Given the description of an element on the screen output the (x, y) to click on. 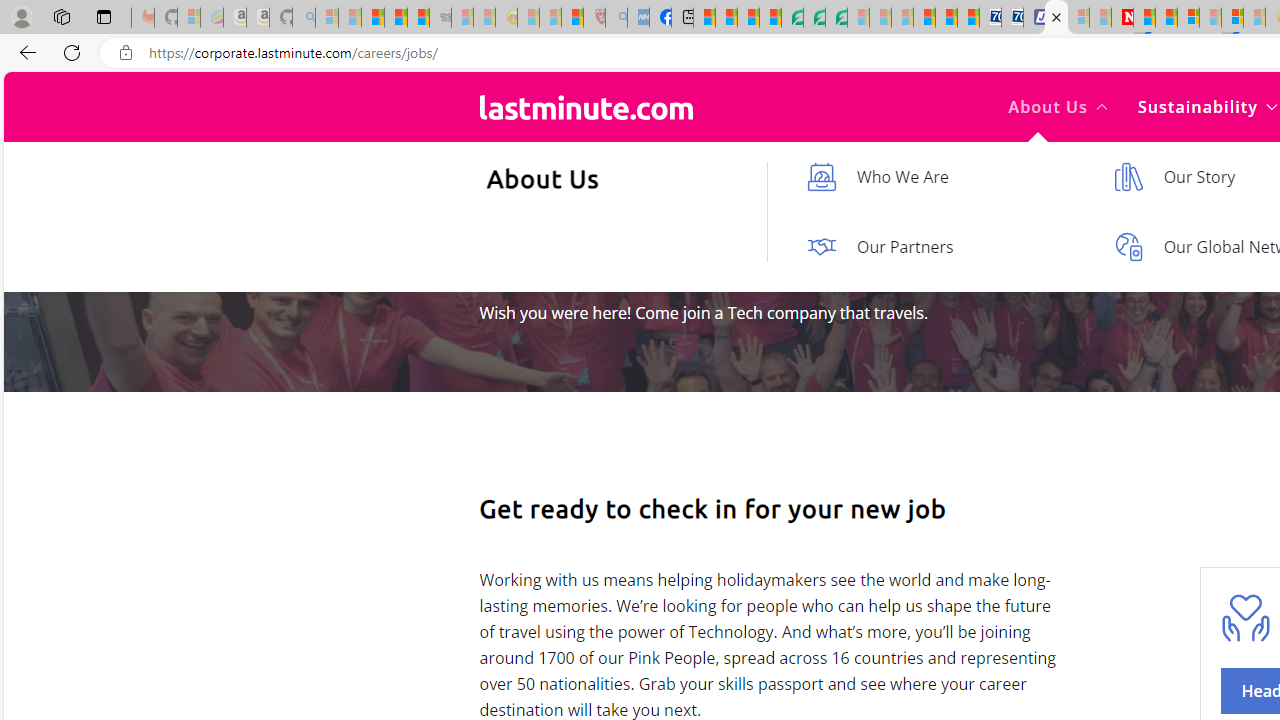
NCL Adult Asthma Inhaler Choice Guideline - Sleeping (638, 17)
Trusted Community Engagement and Contributions | Guidelines (1144, 17)
Recipes - MSN - Sleeping (528, 17)
14 Common Myths Debunked By Scientific Facts (1166, 17)
Cheap Hotels - Save70.com (1012, 17)
World - MSN (748, 17)
Combat Siege (440, 17)
Local - MSN (571, 17)
New Report Confirms 2023 Was Record Hot | Watch (418, 17)
